Given the description of an element on the screen output the (x, y) to click on. 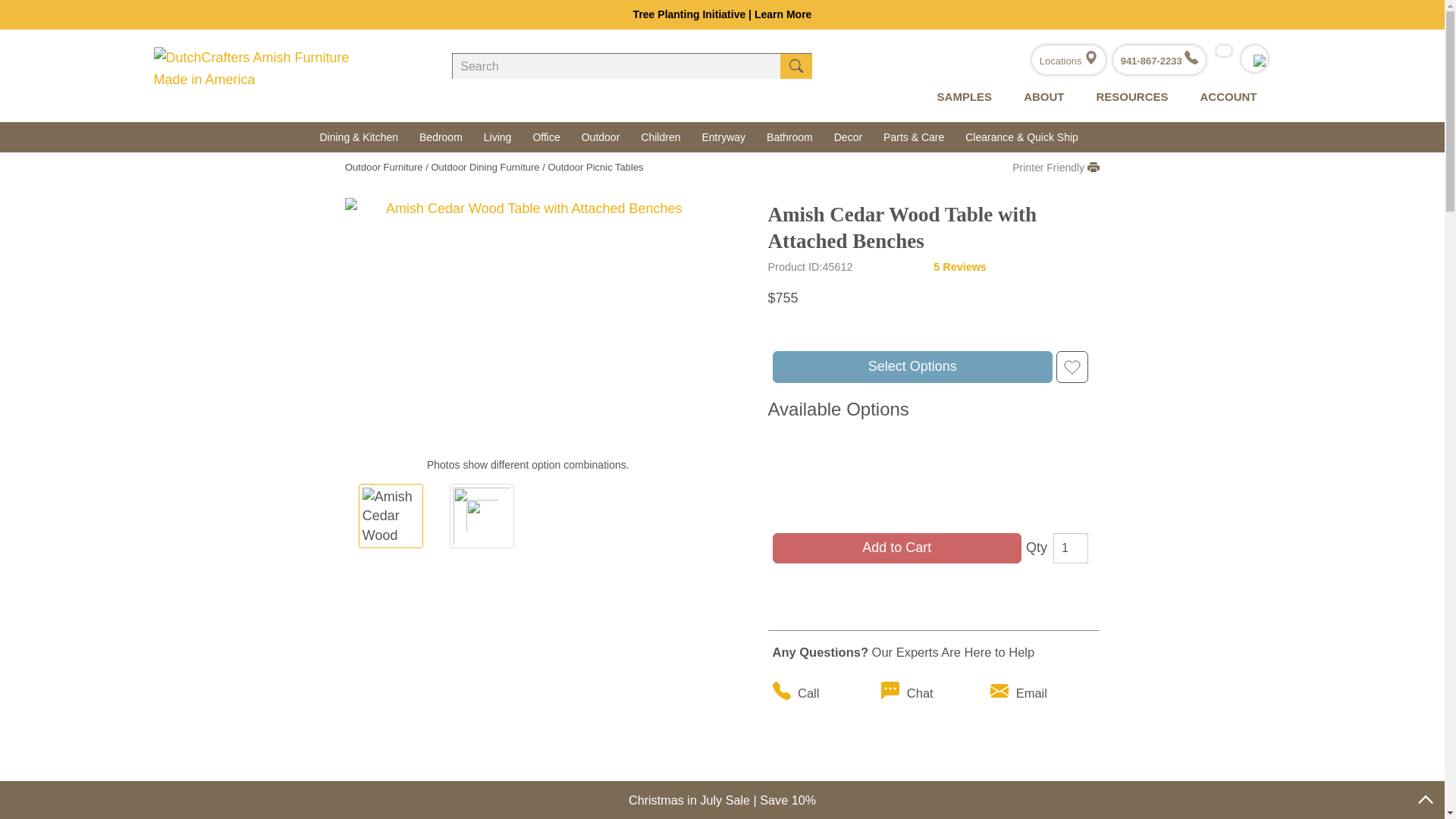
RESOURCES (1128, 96)
ABOUT (1039, 96)
941-867-2233 (1159, 60)
SAMPLES (961, 96)
ACCOUNT (1224, 96)
Locations (1068, 60)
1 (1069, 548)
